Given the description of an element on the screen output the (x, y) to click on. 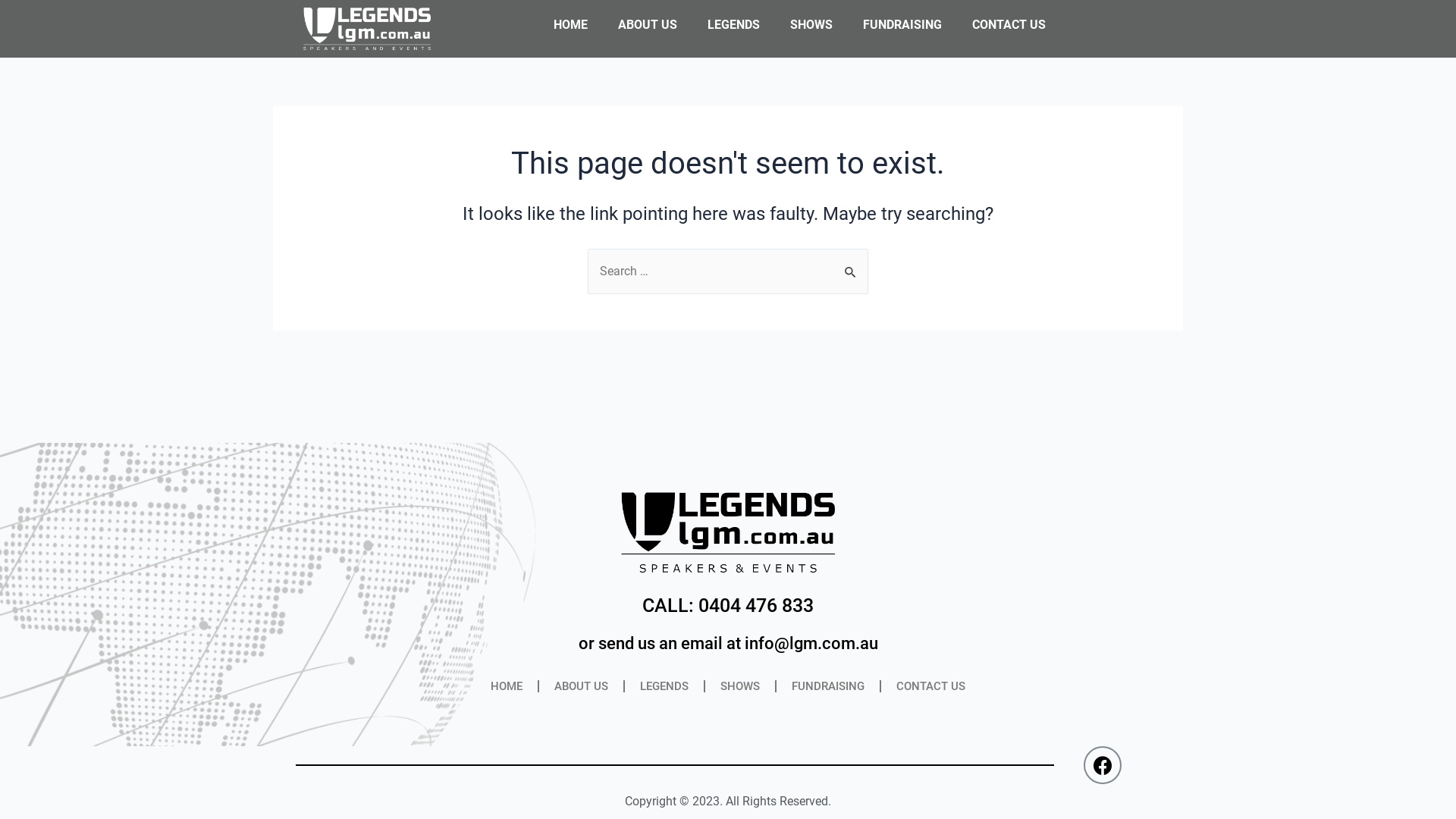
SHOWS Element type: text (740, 685)
LEGENDS Element type: text (663, 685)
HOME Element type: text (570, 24)
HOME Element type: text (506, 685)
CALL: 0404 476 833 Element type: text (727, 605)
LEGENDS Element type: text (733, 24)
SHOWS Element type: text (811, 24)
ABOUT US Element type: text (581, 685)
CONTACT US Element type: text (1008, 24)
FUNDRAISING Element type: text (827, 685)
FUNDRAISING Element type: text (902, 24)
ABOUT US Element type: text (647, 24)
Search Element type: text (851, 264)
CONTACT US Element type: text (930, 685)
or send us an email at info@lgm.com.au Element type: text (727, 642)
